Given the description of an element on the screen output the (x, y) to click on. 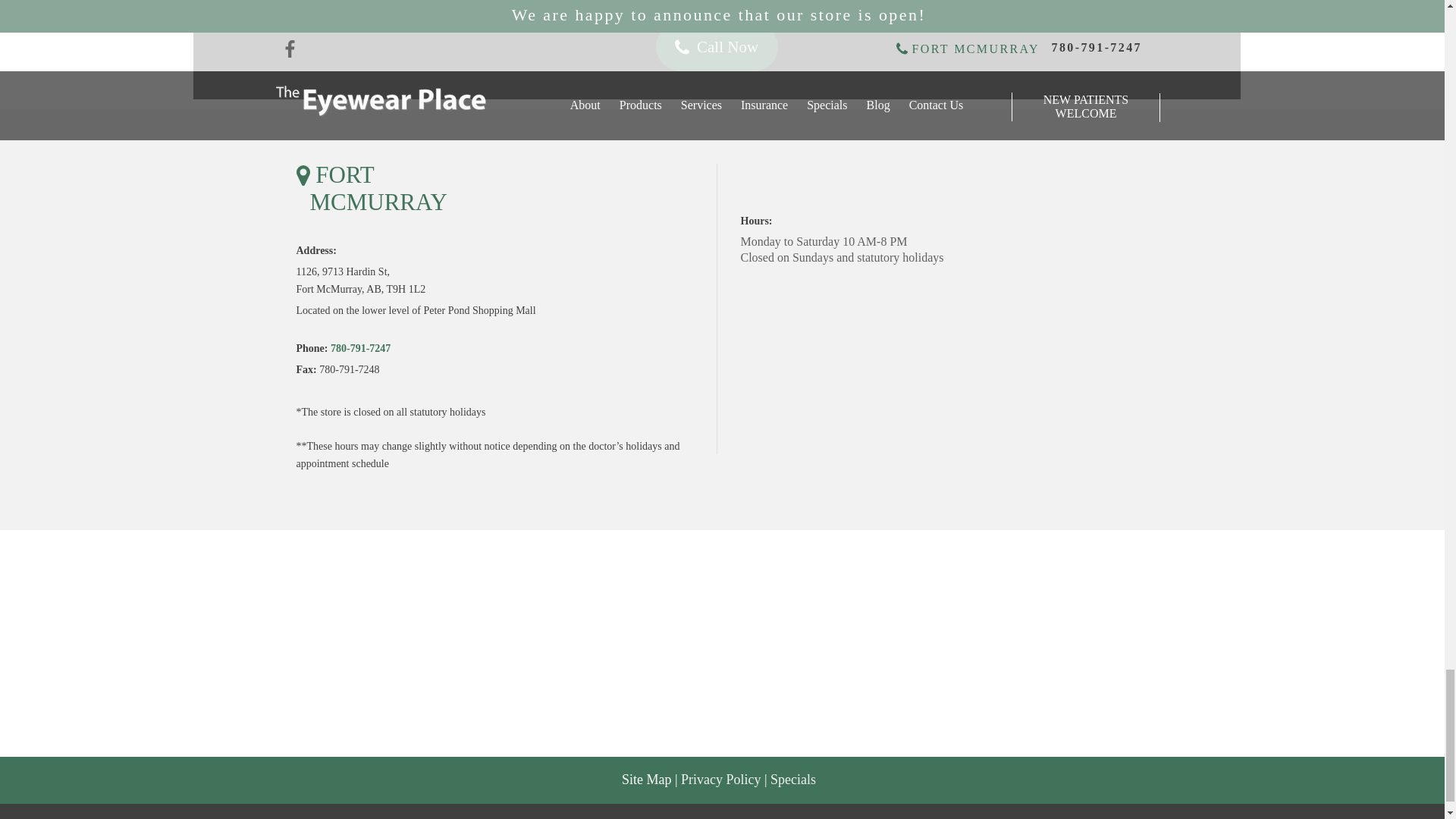
Privacy Policy (721, 781)
780-791-7247 (360, 348)
Specials (792, 781)
Call Now (716, 46)
